Given the description of an element on the screen output the (x, y) to click on. 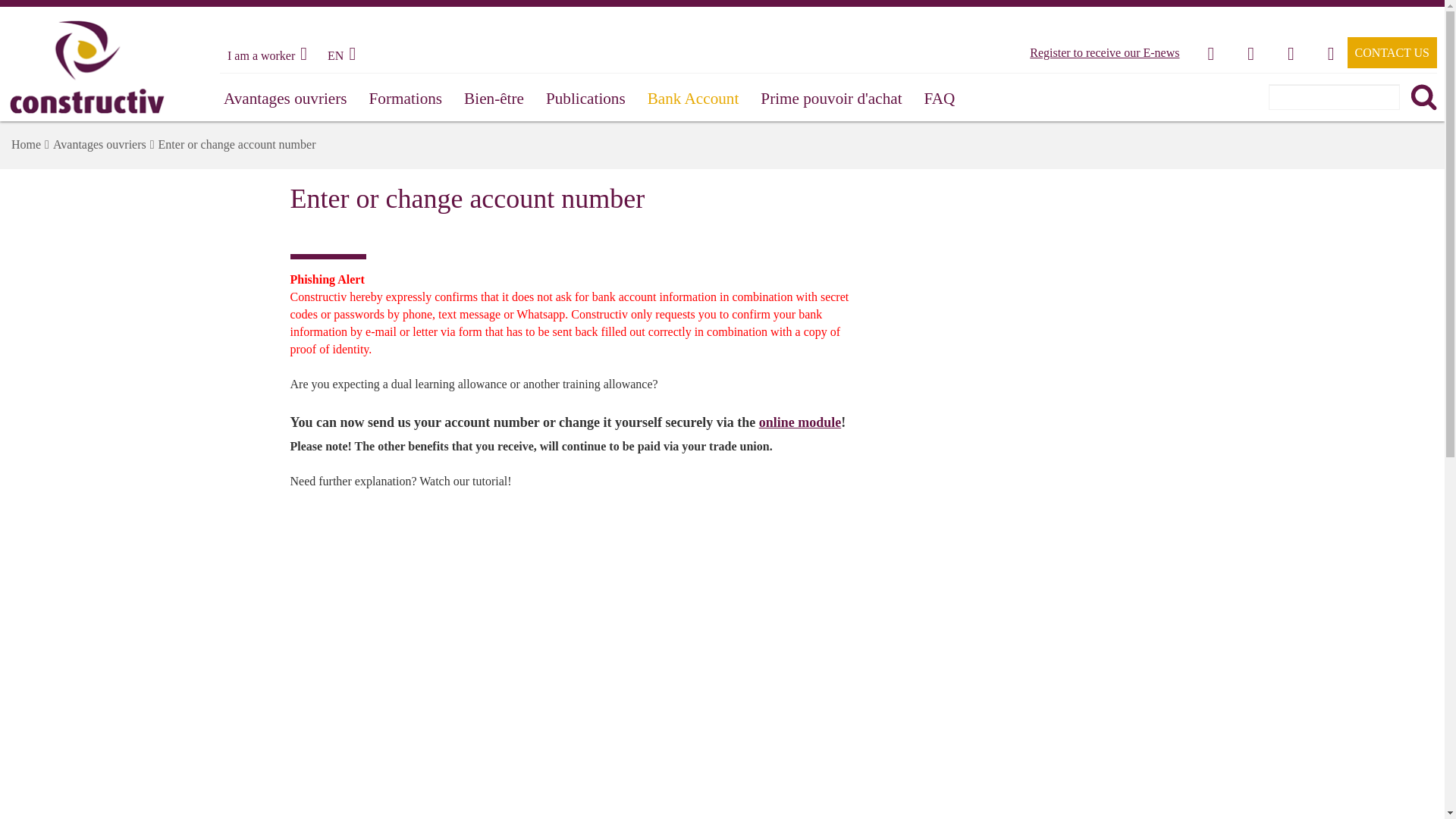
Home (25, 144)
EN (344, 54)
Prime pouvoir d'achat (831, 98)
Publications (584, 98)
online module (799, 421)
I am a worker (269, 54)
Enter or change account number (236, 144)
Bank Account (692, 98)
FAQ (939, 98)
YouTube video player (501, 616)
Register to receive our E-news (1104, 51)
CONTACT US (1392, 51)
Avantages ouvriers (284, 98)
Formations (405, 98)
Avantages ouvriers (99, 144)
